Given the description of an element on the screen output the (x, y) to click on. 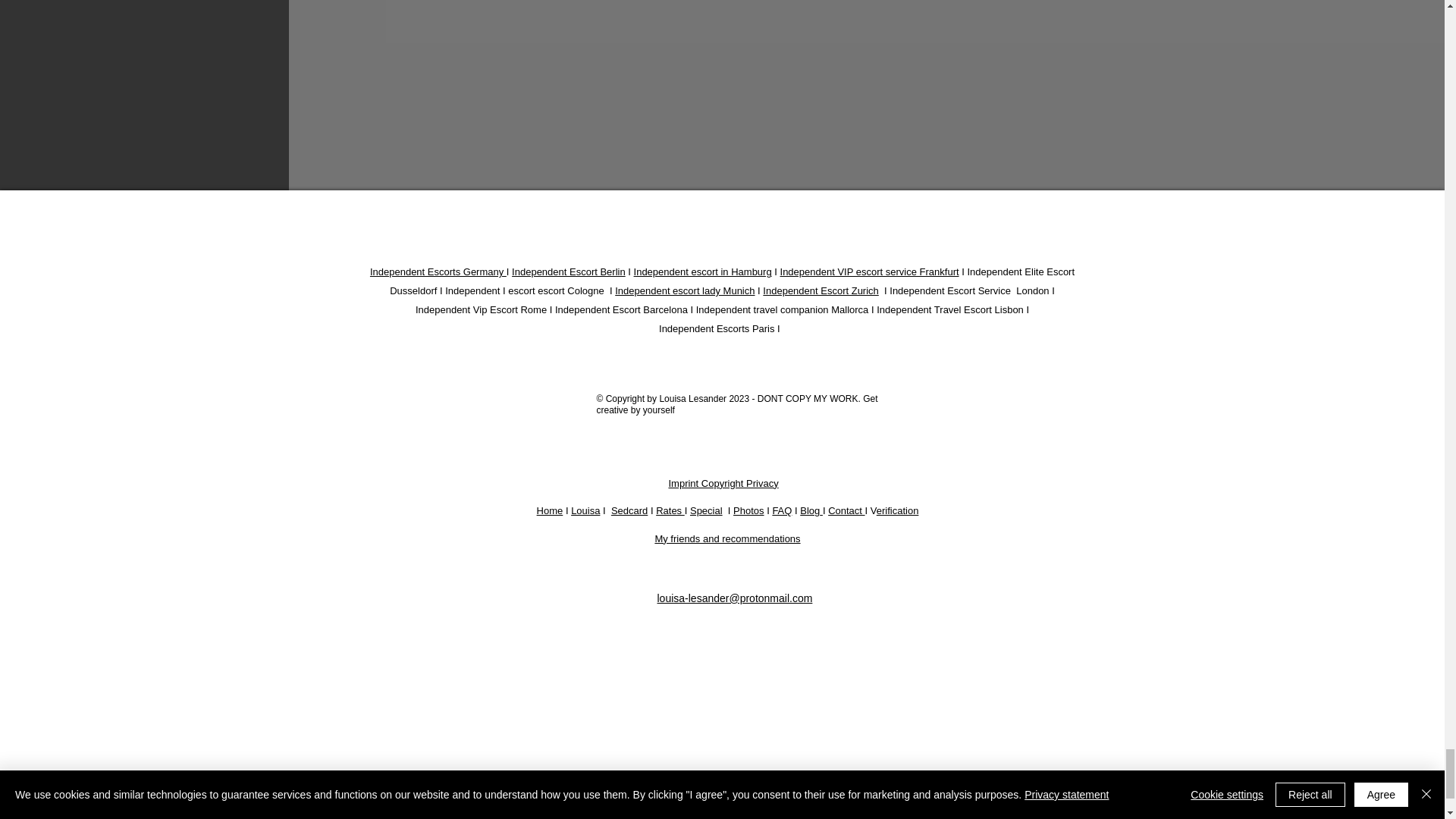
Sedcard (629, 510)
Rates  (670, 510)
Independent escort in Hamburg (702, 271)
Blog (809, 510)
Independent Escorts Germany (437, 271)
Special (706, 510)
erification (897, 510)
Independent Escort Berlin (569, 271)
Independent escort lady Munich (684, 290)
Louisa (584, 510)
